Given the description of an element on the screen output the (x, y) to click on. 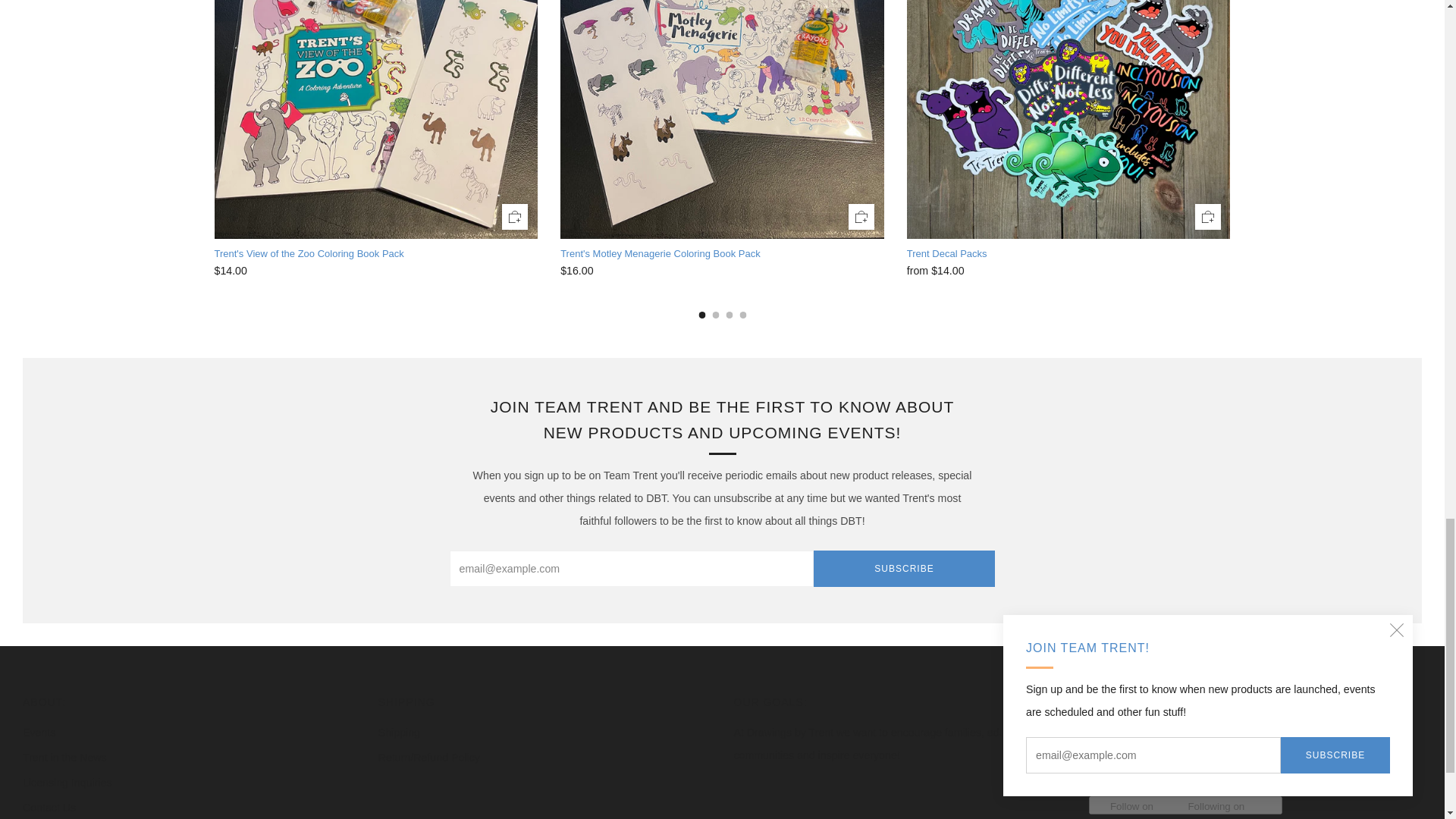
Trent's View of the Zoo Coloring Book Pack (375, 270)
Trent Decal Packs (1068, 270)
Trent's View of the Zoo Coloring Book Pack (375, 254)
Trent Decal Packs (1068, 254)
Trent's Motley Menagerie Coloring Book Pack (721, 254)
Trent's Motley Menagerie Coloring Book Pack (721, 270)
